Given the description of an element on the screen output the (x, y) to click on. 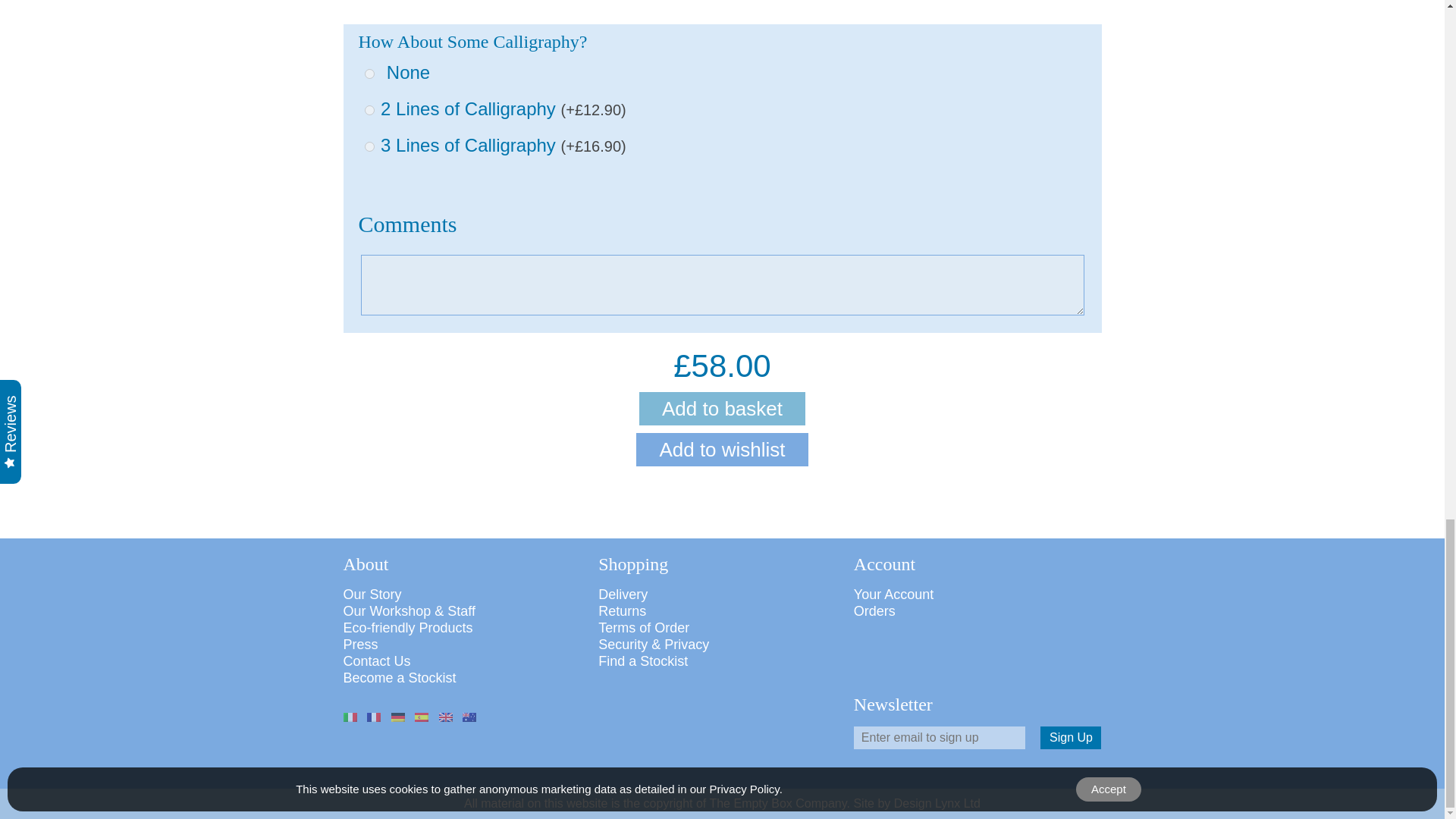
2-lines-of-calligraphy (369, 110)
3-lines-of-calligraphy (369, 146)
Sign Up (1070, 737)
